Given the description of an element on the screen output the (x, y) to click on. 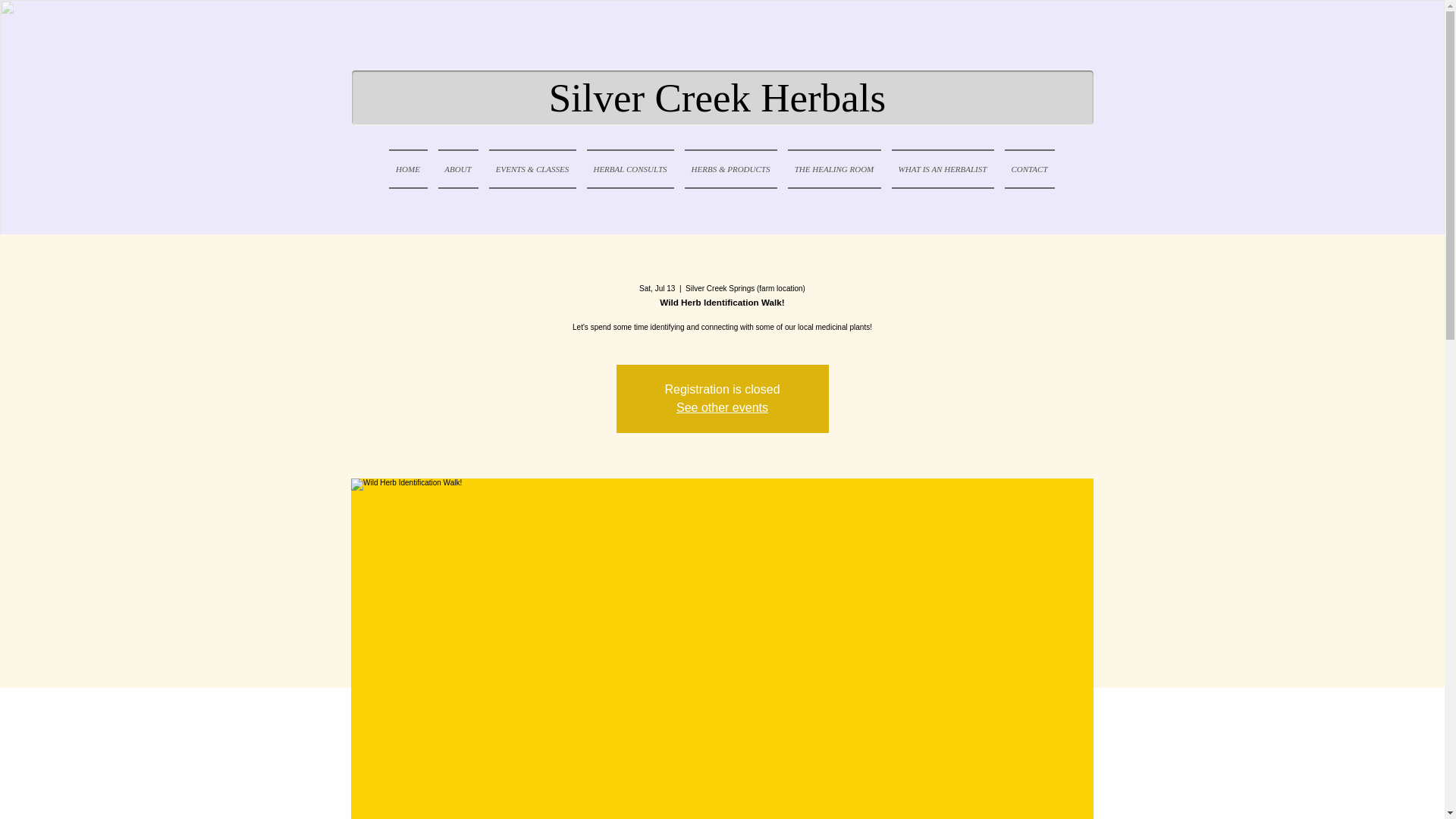
CONTACT (1026, 169)
WHAT IS AN HERBALIST (941, 169)
HERBAL CONSULTS (629, 169)
See other events (722, 407)
ABOUT (457, 169)
THE HEALING ROOM (834, 169)
HOME (410, 169)
